Given the description of an element on the screen output the (x, y) to click on. 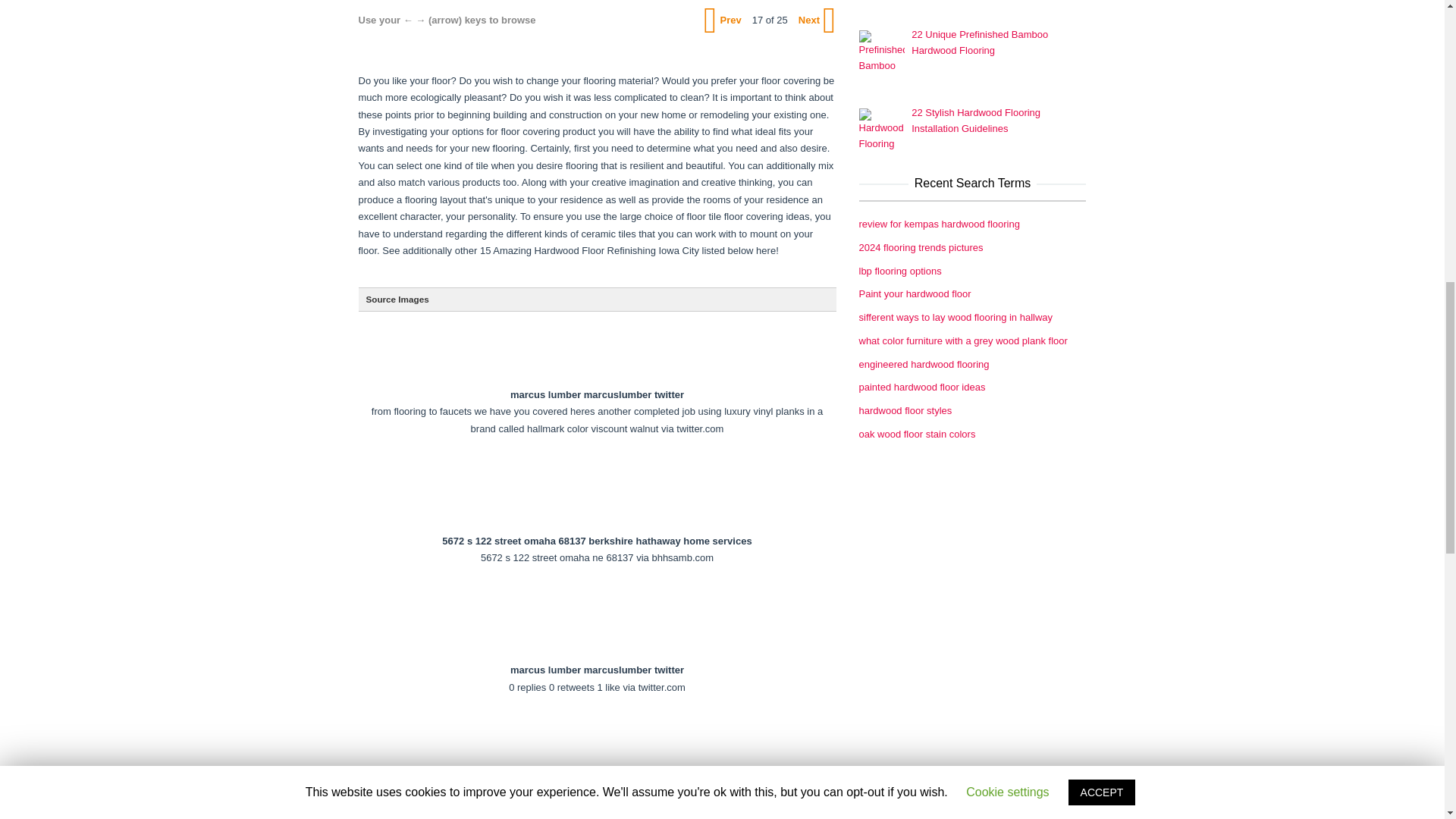
Prev (723, 20)
review for kempas hardwood flooring (939, 224)
lbp flooring options (899, 270)
Paint your hardwood floor (915, 293)
painted hardwood floor ideas (922, 387)
hardwood floor styles (905, 410)
2024 flooring trends pictures (920, 247)
22 Stylish Hardwood Flooring Installation Guidelines (976, 120)
Next (814, 20)
